Given the description of an element on the screen output the (x, y) to click on. 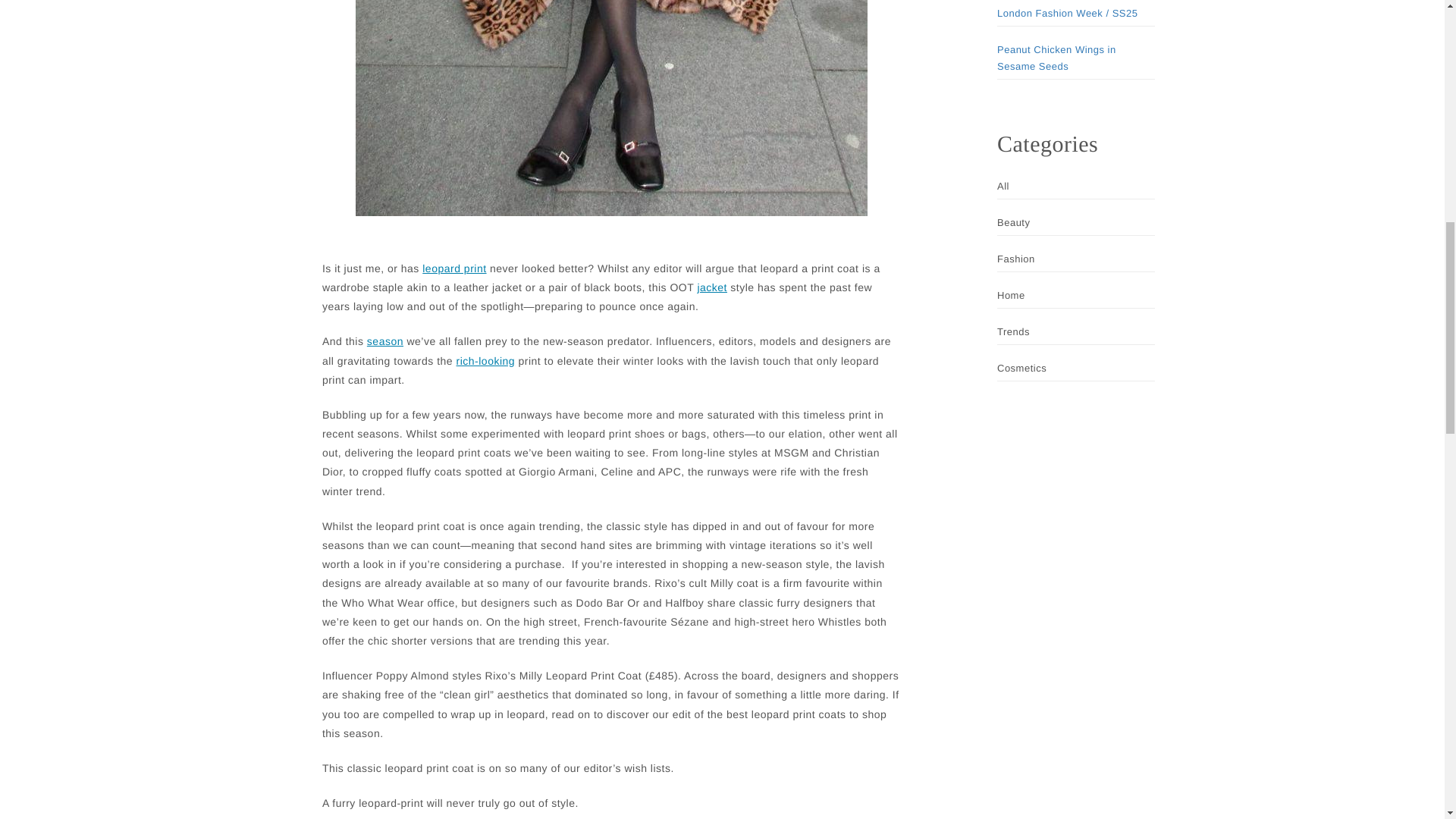
season (384, 341)
leopard print (454, 268)
jacket (711, 287)
rich-looking (486, 361)
